Given the description of an element on the screen output the (x, y) to click on. 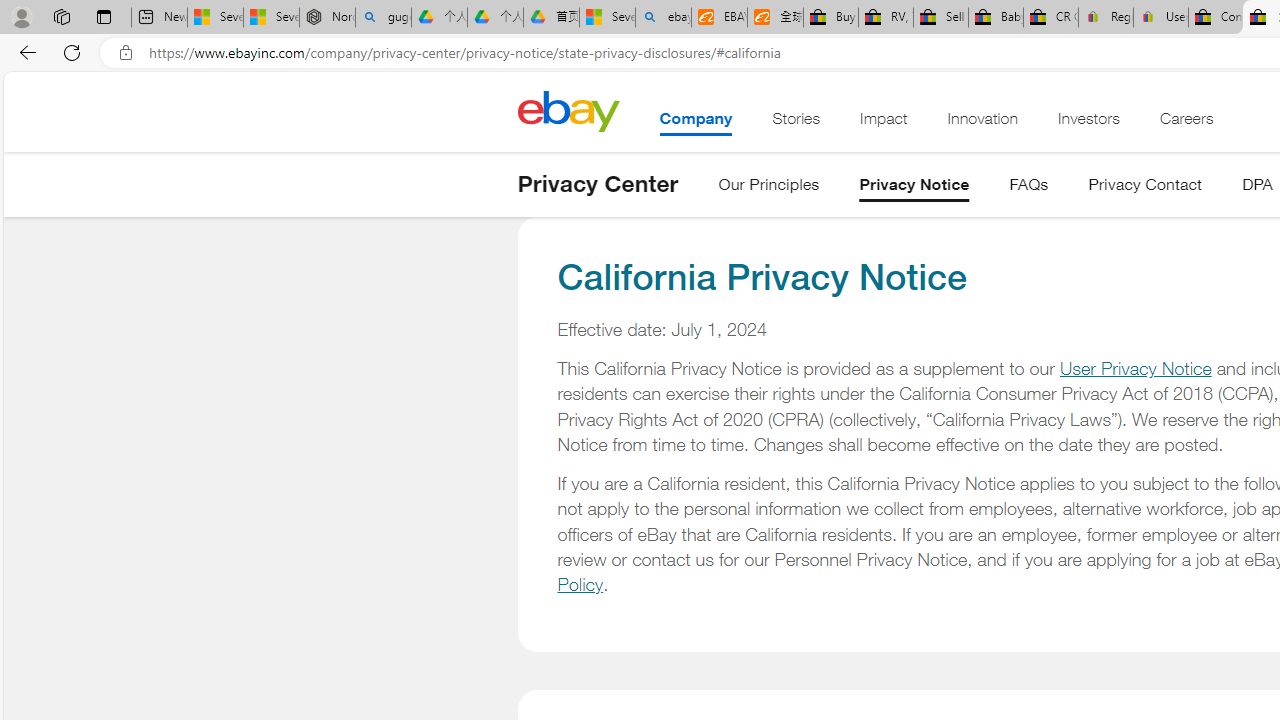
Register: Create a personal eBay account (1105, 17)
FAQs (1028, 188)
Privacy Contact (1145, 188)
guge yunpan - Search (382, 17)
